Given the description of an element on the screen output the (x, y) to click on. 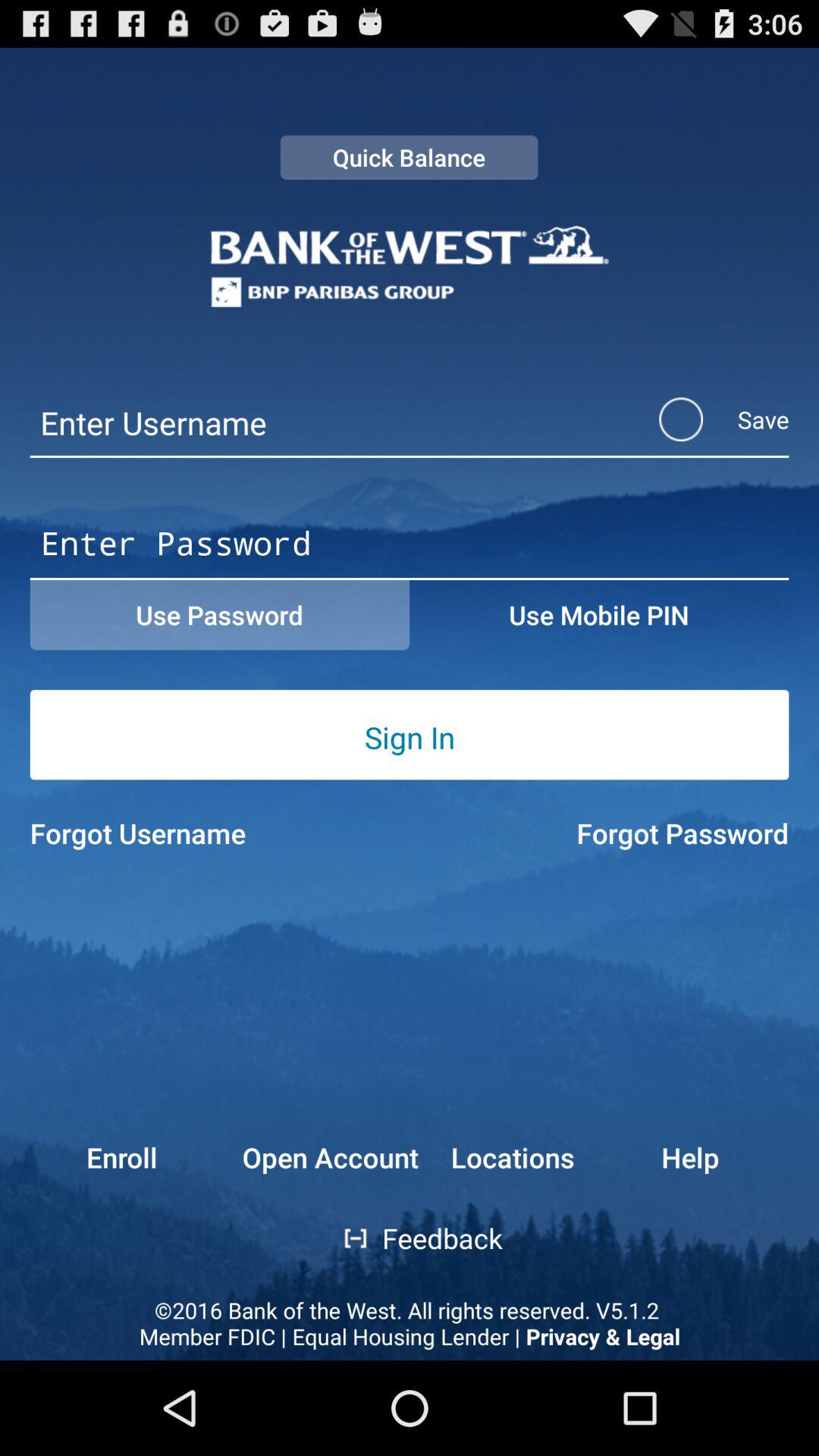
press save icon (703, 419)
